Given the description of an element on the screen output the (x, y) to click on. 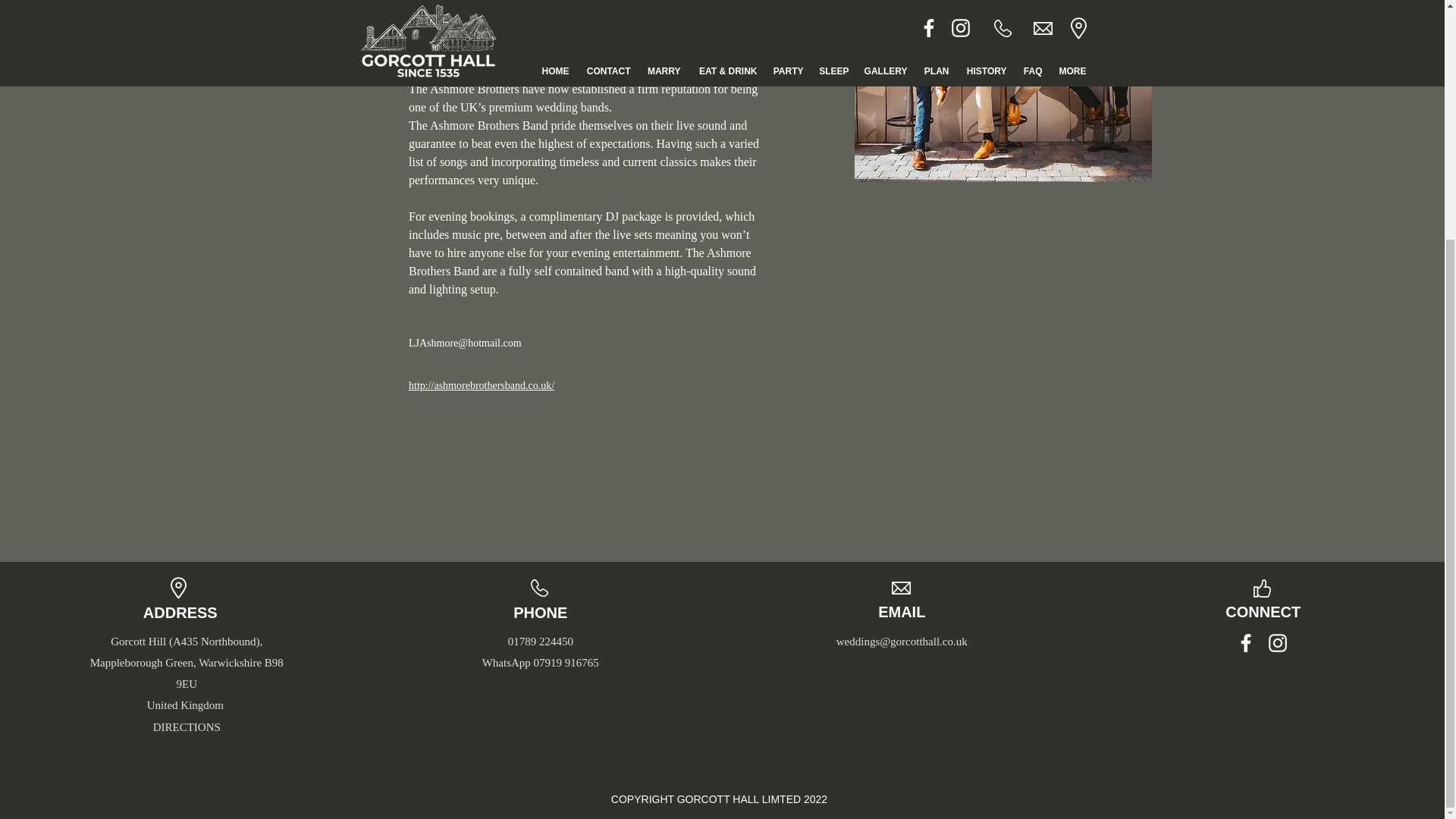
DIRECTIONS (186, 727)
01789 224450 (540, 641)
COPYRIGHT GORCOTT HALL LIMTED 2022 (719, 798)
Ashmore Band.jpg (1002, 90)
